Given the description of an element on the screen output the (x, y) to click on. 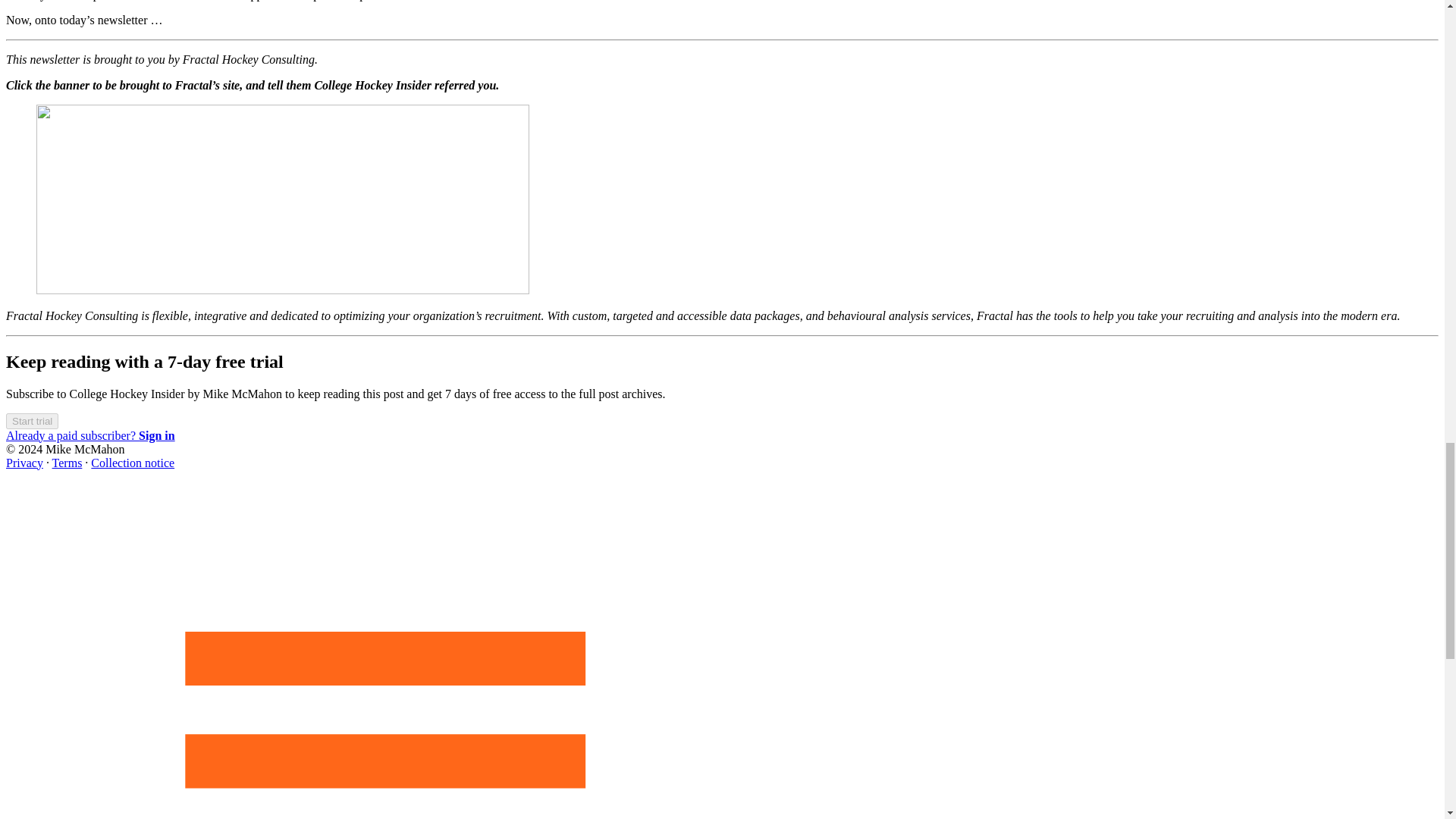
Privacy (24, 462)
Start trial (31, 420)
Terms (67, 462)
Already a paid subscriber? Sign in (89, 435)
Collection notice (132, 462)
Start trial (31, 421)
